Given the description of an element on the screen output the (x, y) to click on. 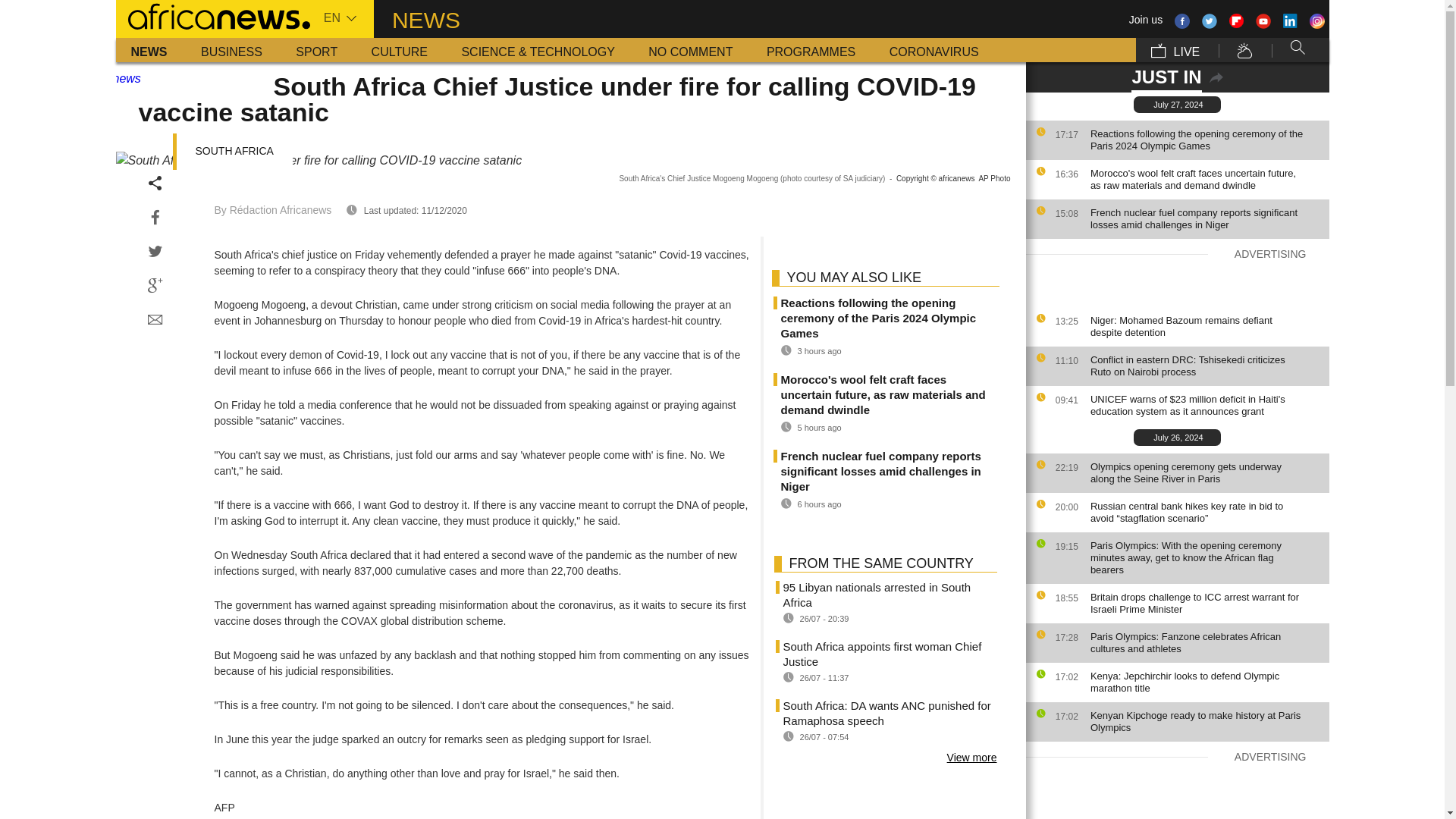
Coronavirus (934, 49)
CORONAVIRUS (934, 49)
Business (232, 49)
LIVE (1174, 49)
Niger: Mohamed Bazoum remains defiant despite detention (1206, 326)
BUSINESS (232, 49)
News (148, 49)
CULTURE (399, 49)
Culture (399, 49)
Sport (316, 49)
Africanews (211, 15)
SPORT (316, 49)
